Given the description of an element on the screen output the (x, y) to click on. 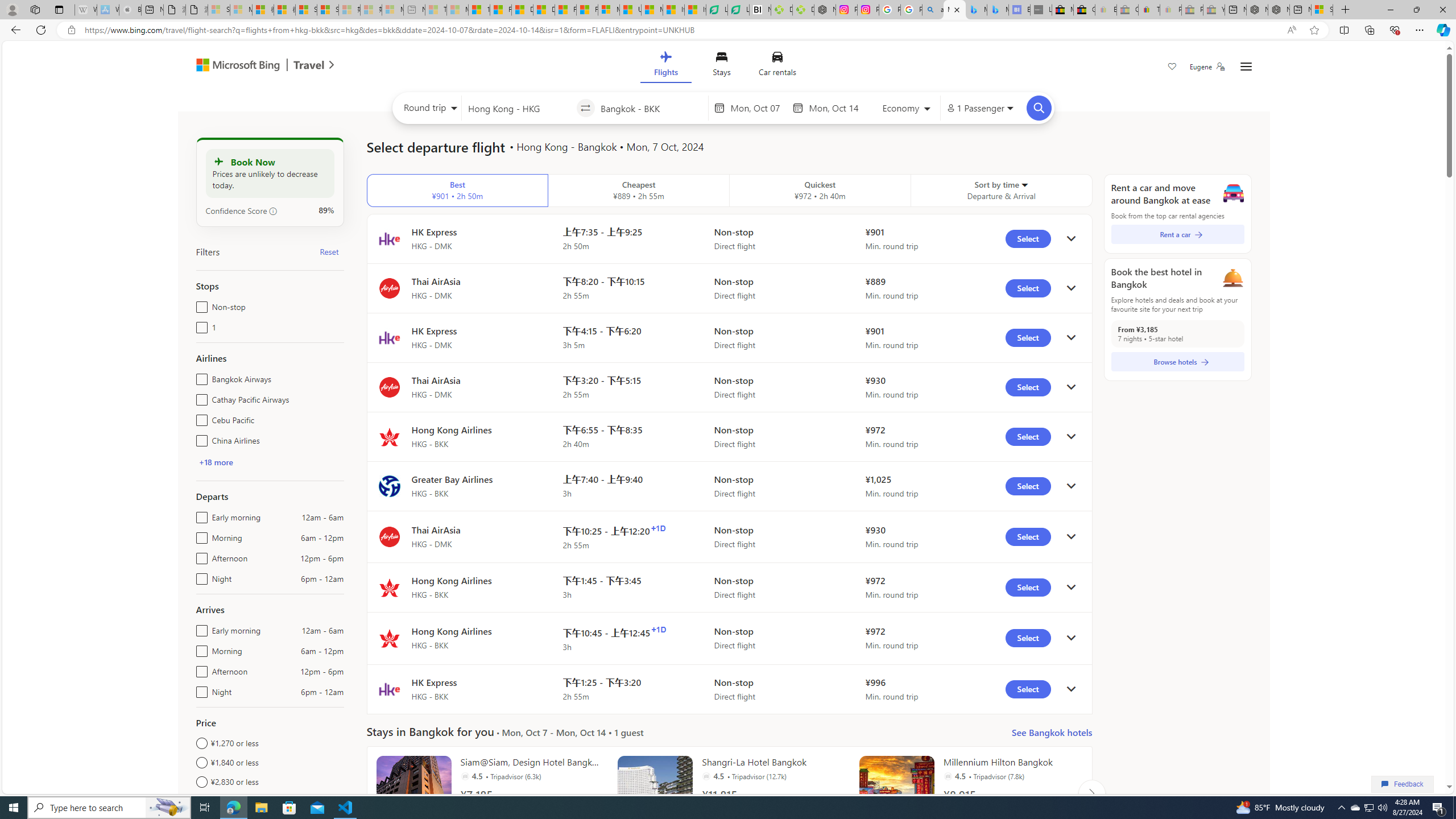
1 (199, 325)
